Given the description of an element on the screen output the (x, y) to click on. 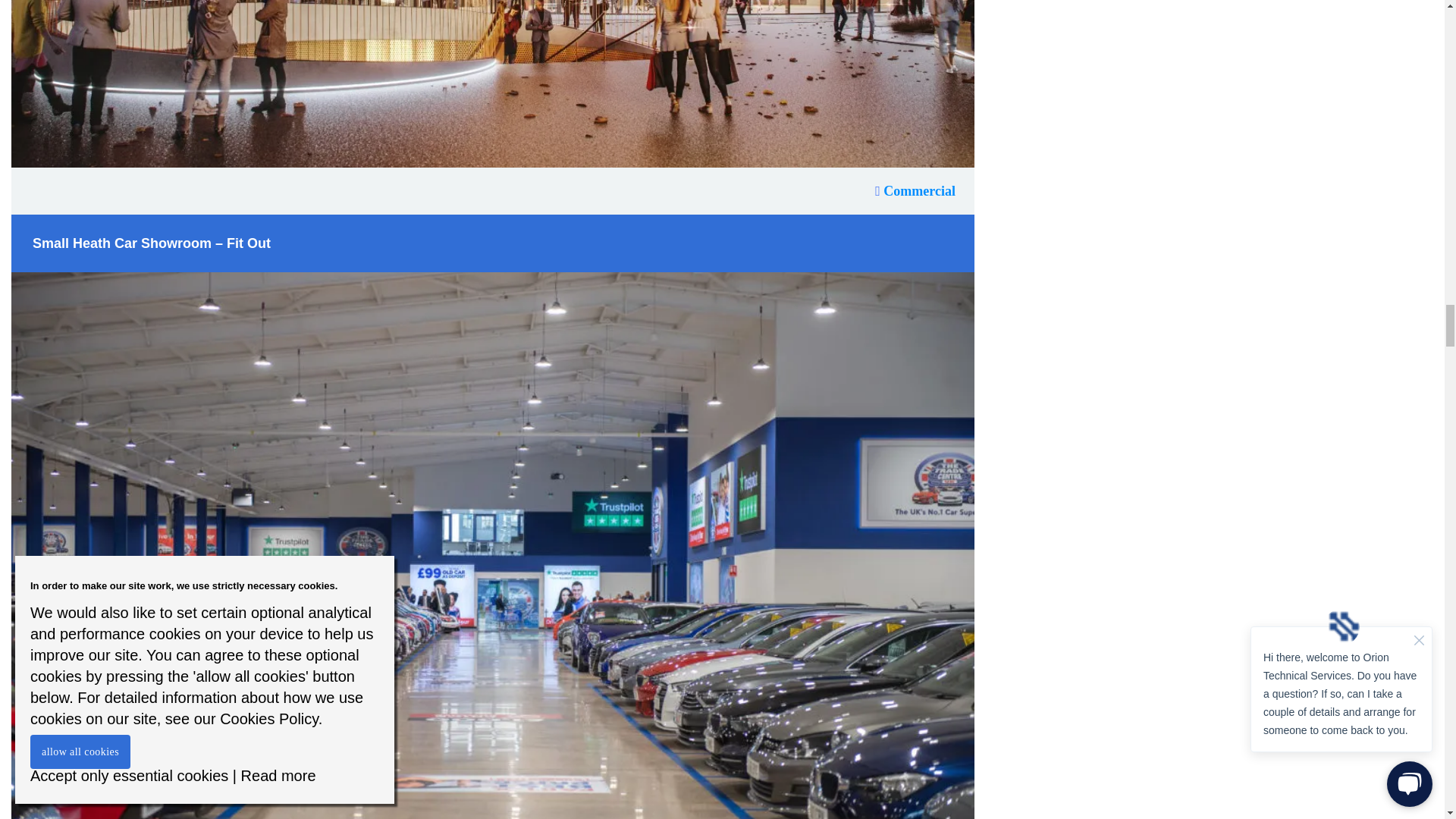
Commercial (915, 190)
